Given the description of an element on the screen output the (x, y) to click on. 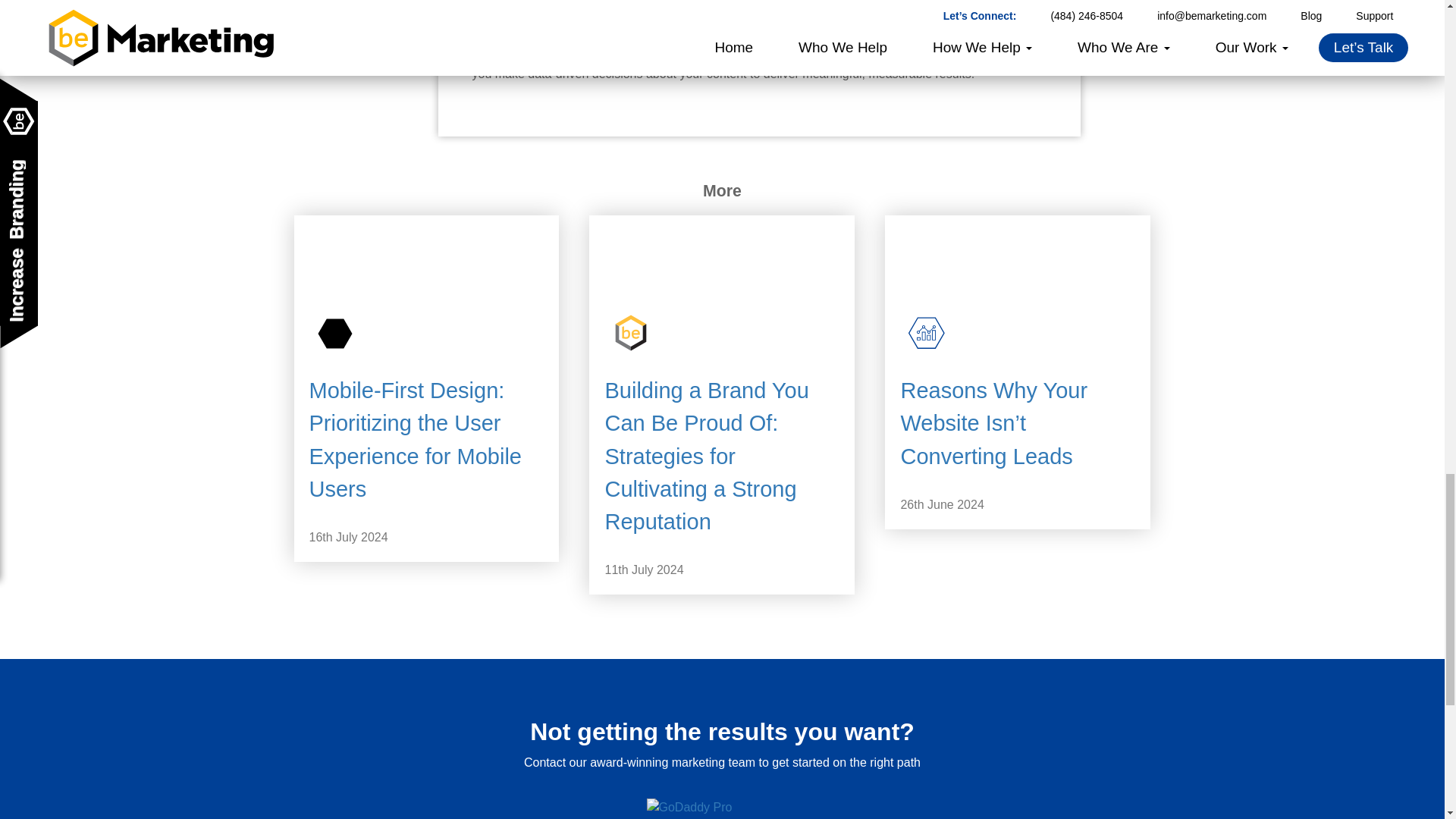
social media services (927, 55)
